Given the description of an element on the screen output the (x, y) to click on. 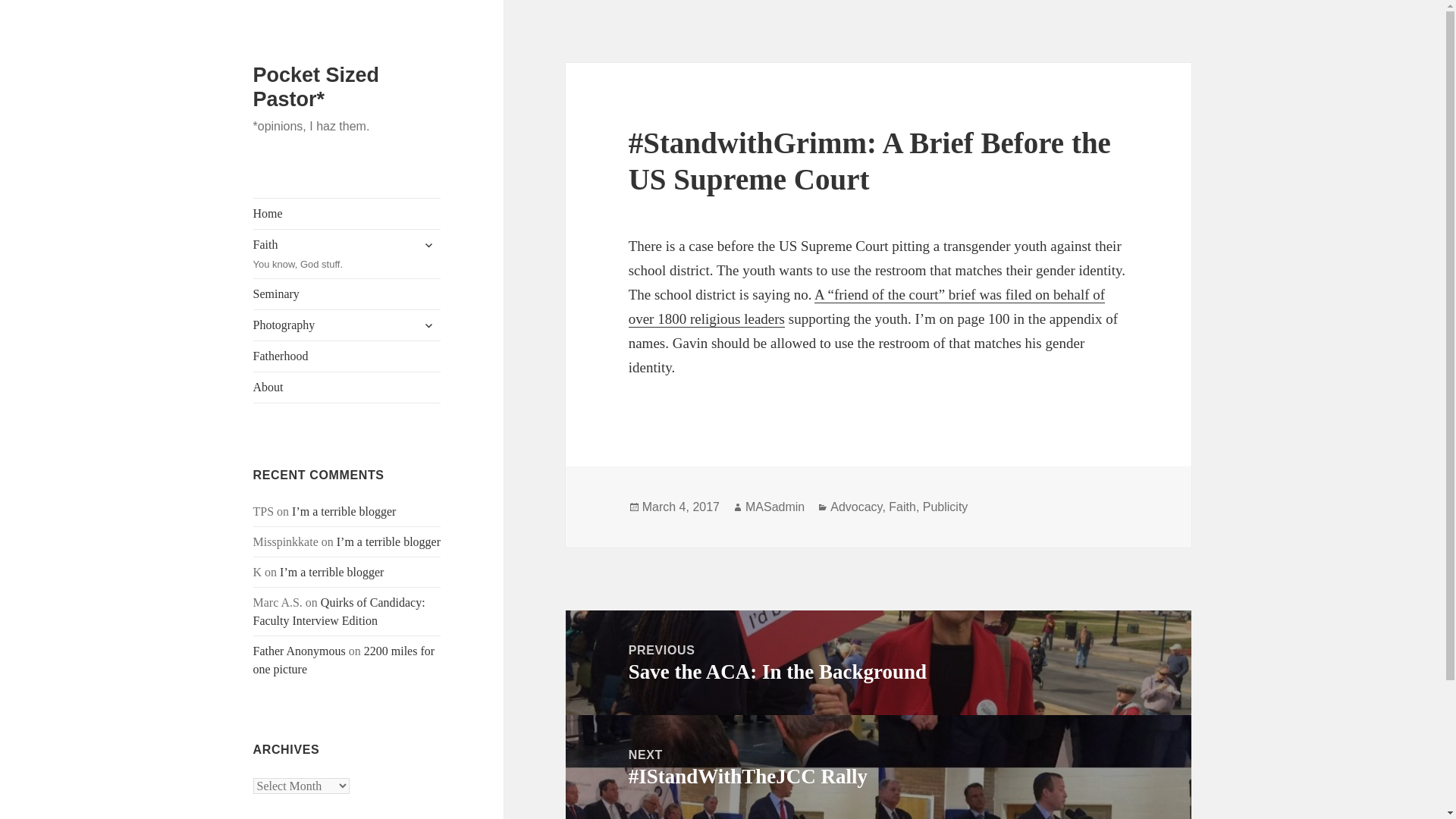
Seminary (347, 254)
About (347, 294)
Advocacy (347, 387)
Fatherhood (855, 507)
Photography (347, 356)
Publicity (878, 661)
March 4, 2017 (347, 325)
expand child menu (945, 507)
expand child menu (680, 507)
Quirks of Candidacy: Faculty Interview Edition (428, 244)
2200 miles for one picture (428, 324)
Home (339, 611)
Father Anonymous (344, 659)
